Given the description of an element on the screen output the (x, y) to click on. 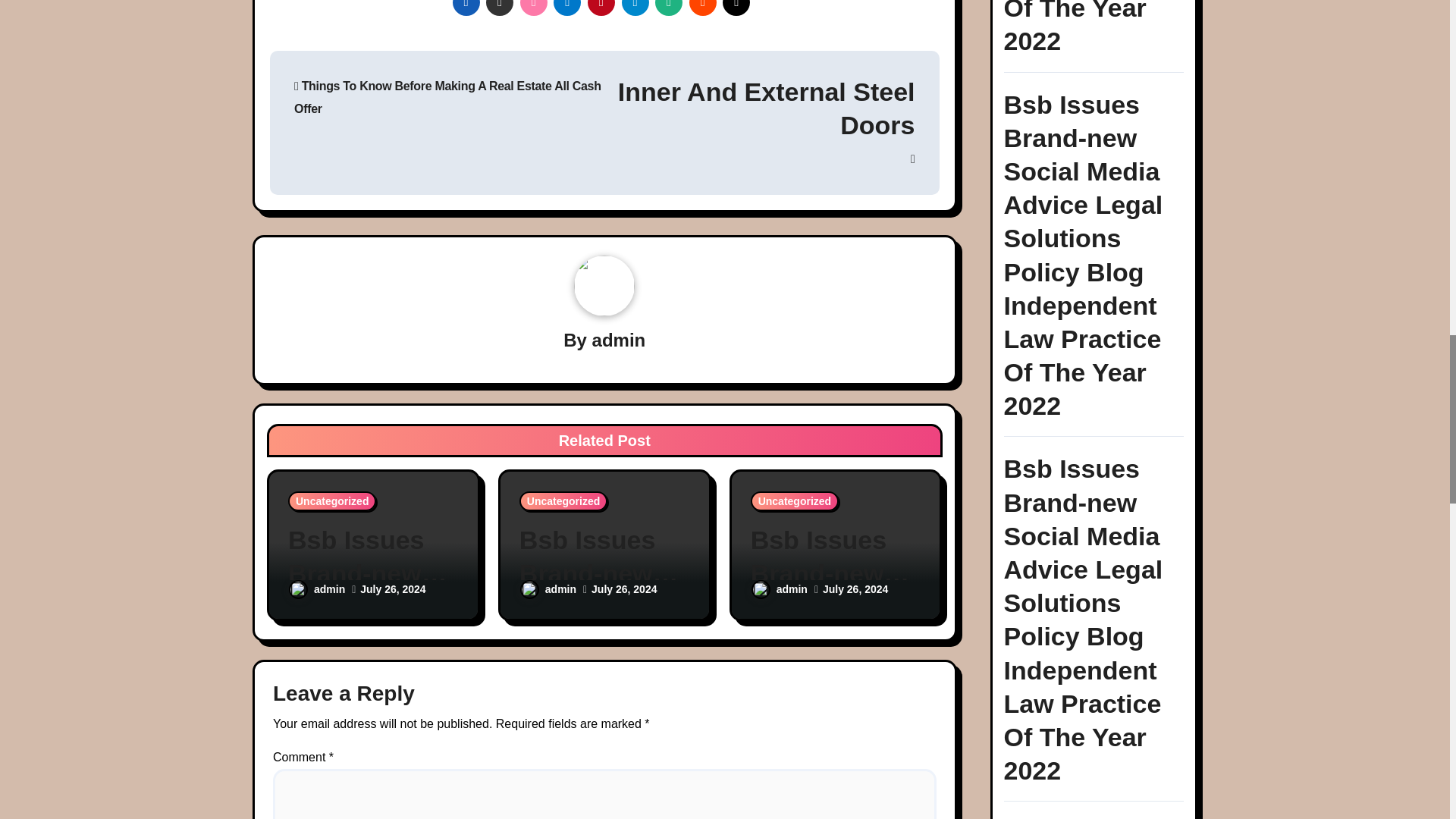
admin (619, 340)
July 26, 2024 (392, 589)
admin (316, 589)
Uncategorized (331, 501)
Inner And External Steel Doors (759, 120)
Things To Know Before Making A Real Estate All Cash Offer (447, 97)
